Given the description of an element on the screen output the (x, y) to click on. 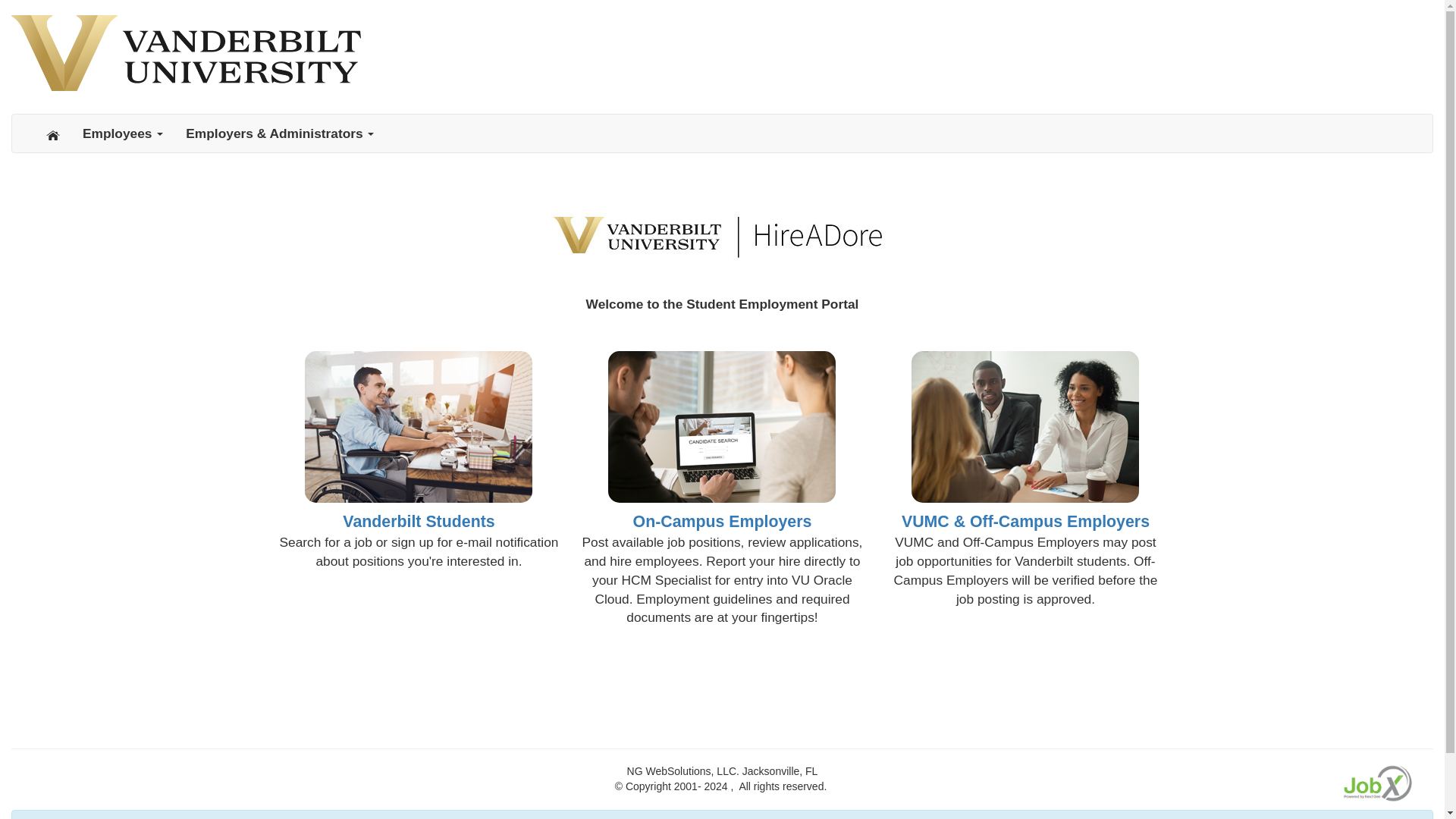
On-Campus Employers (722, 521)
Vanderbilt Students (418, 521)
Employees (122, 133)
